Given the description of an element on the screen output the (x, y) to click on. 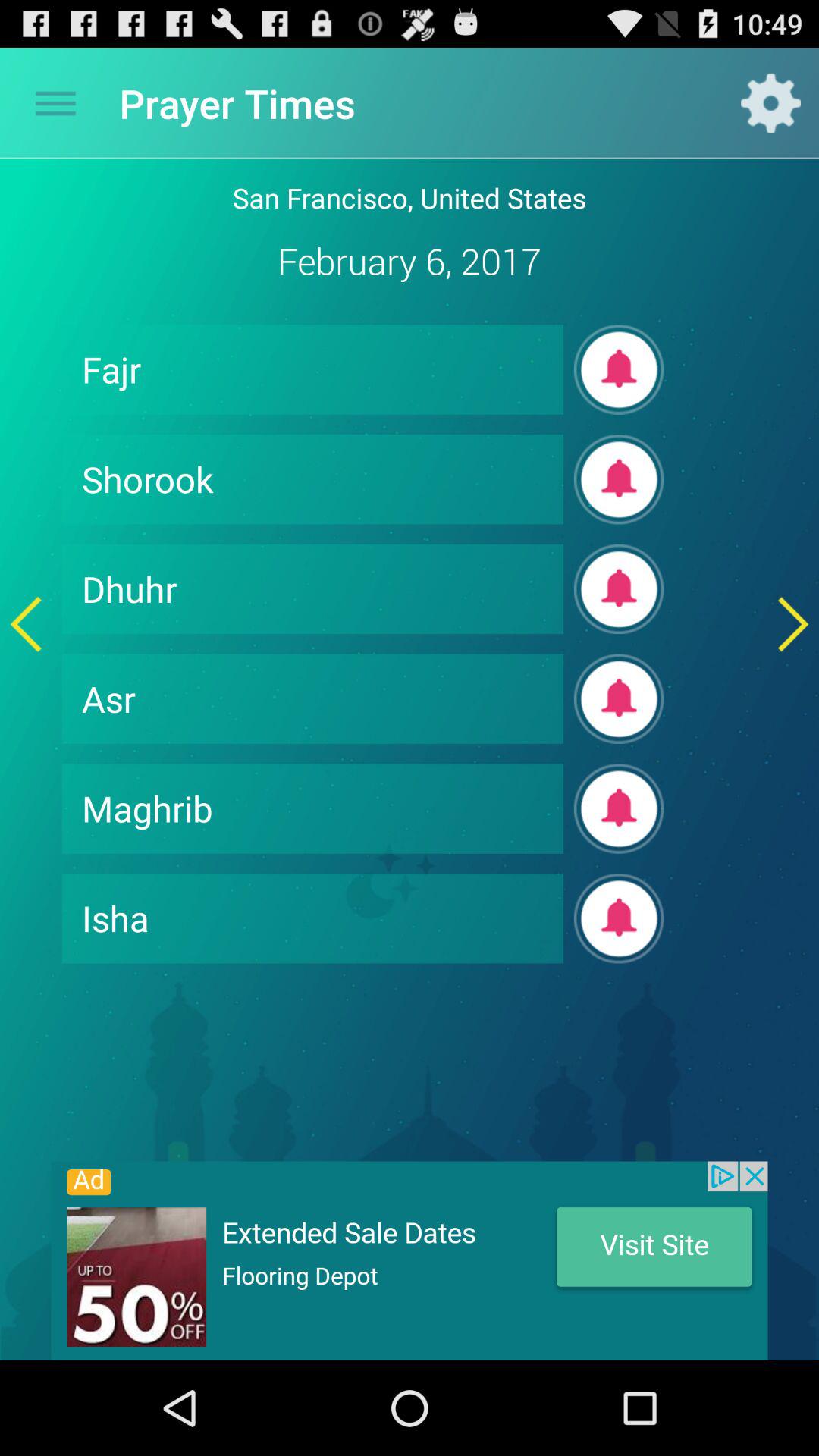
go to advertisement (409, 1260)
